Given the description of an element on the screen output the (x, y) to click on. 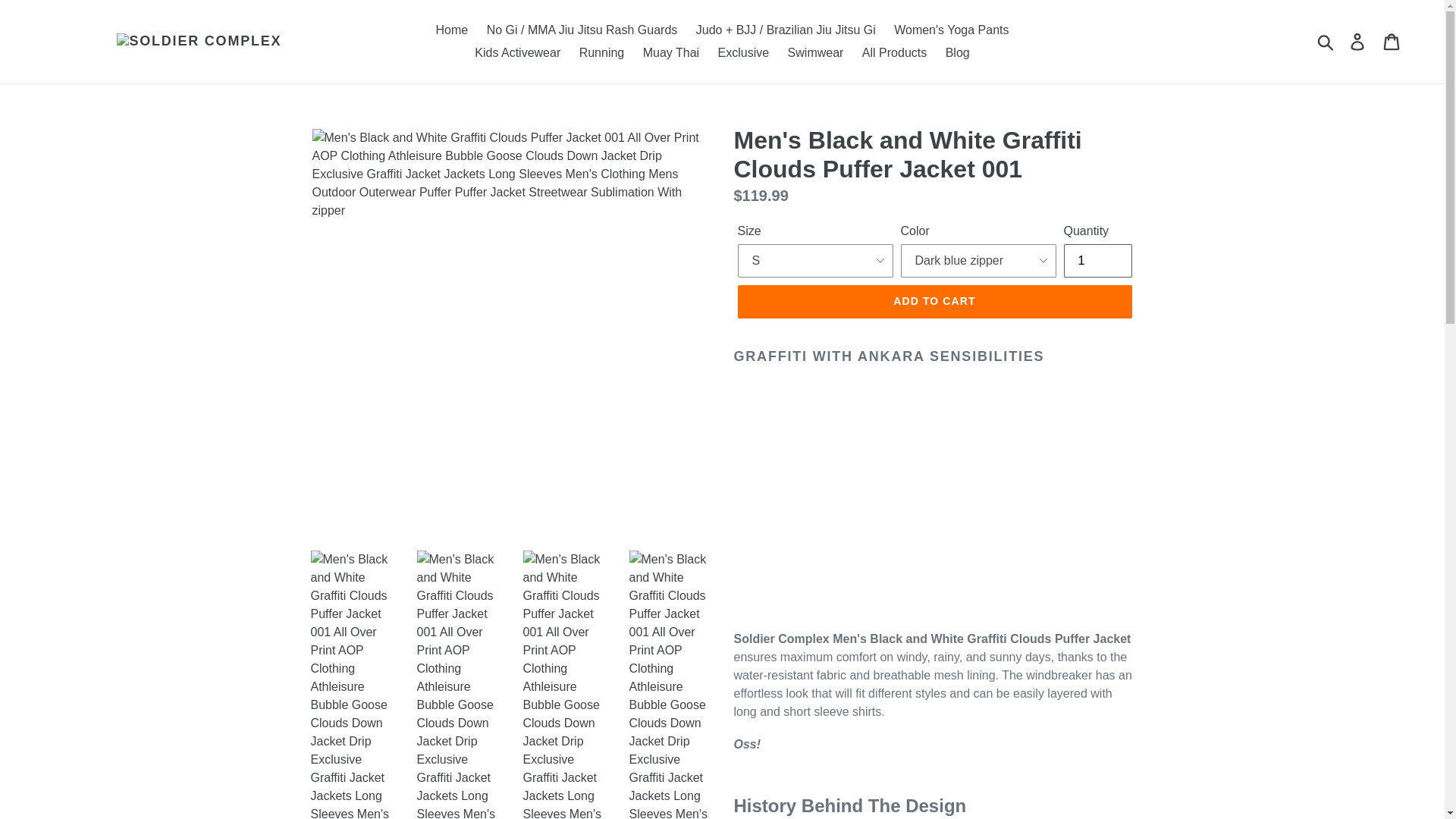
Log in (1357, 41)
All Products (894, 52)
Blog (956, 52)
YouTube video player (945, 504)
1 (1096, 260)
Cart (1392, 41)
Swimwear (815, 52)
Running (601, 52)
Muay Thai (670, 52)
Submit (1326, 41)
